Given the description of an element on the screen output the (x, y) to click on. 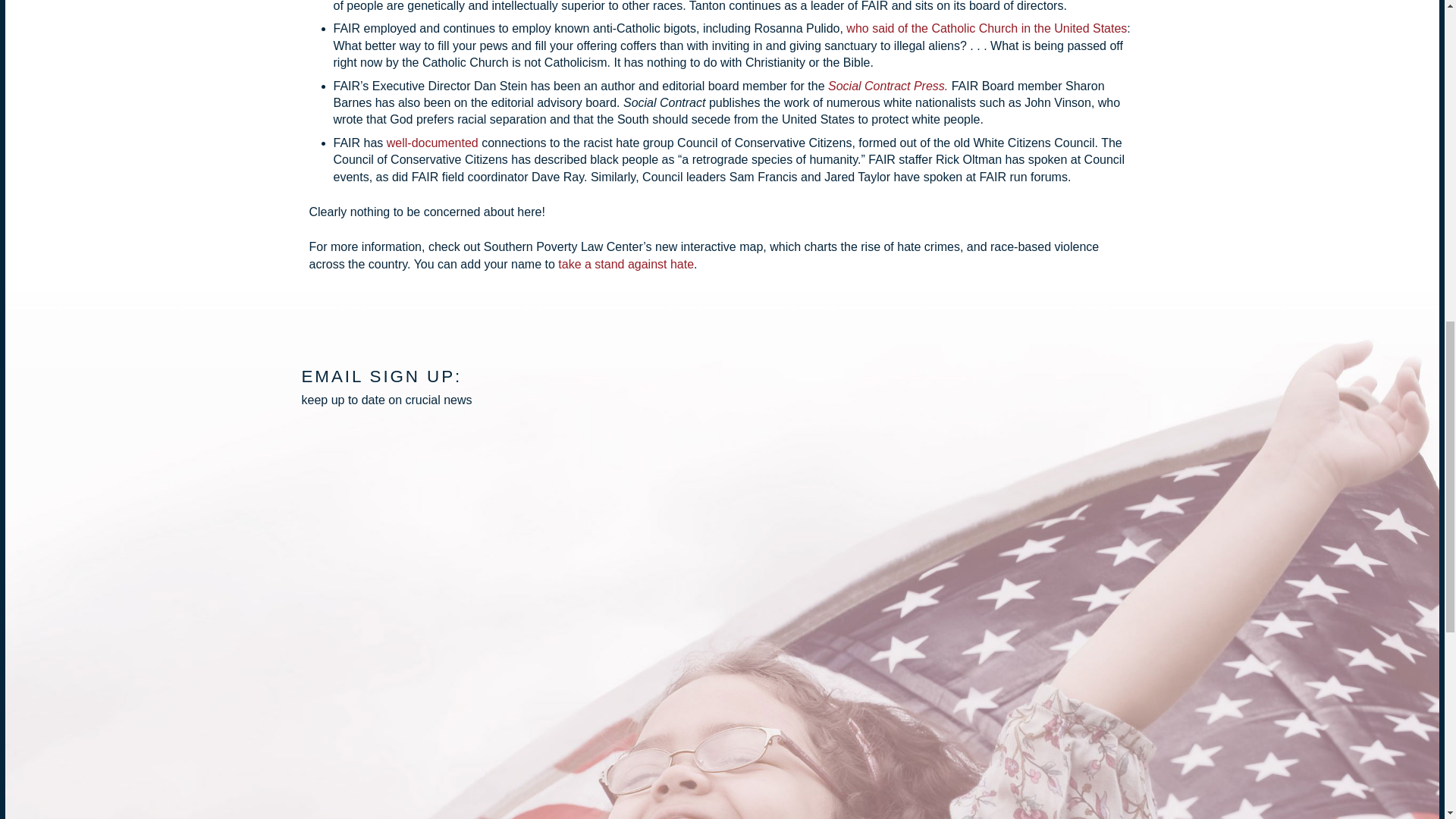
Social Contract Press. (887, 85)
well-documented (433, 142)
take a stand against hate (625, 264)
who said of the Catholic Church in the United States (985, 28)
